Given the description of an element on the screen output the (x, y) to click on. 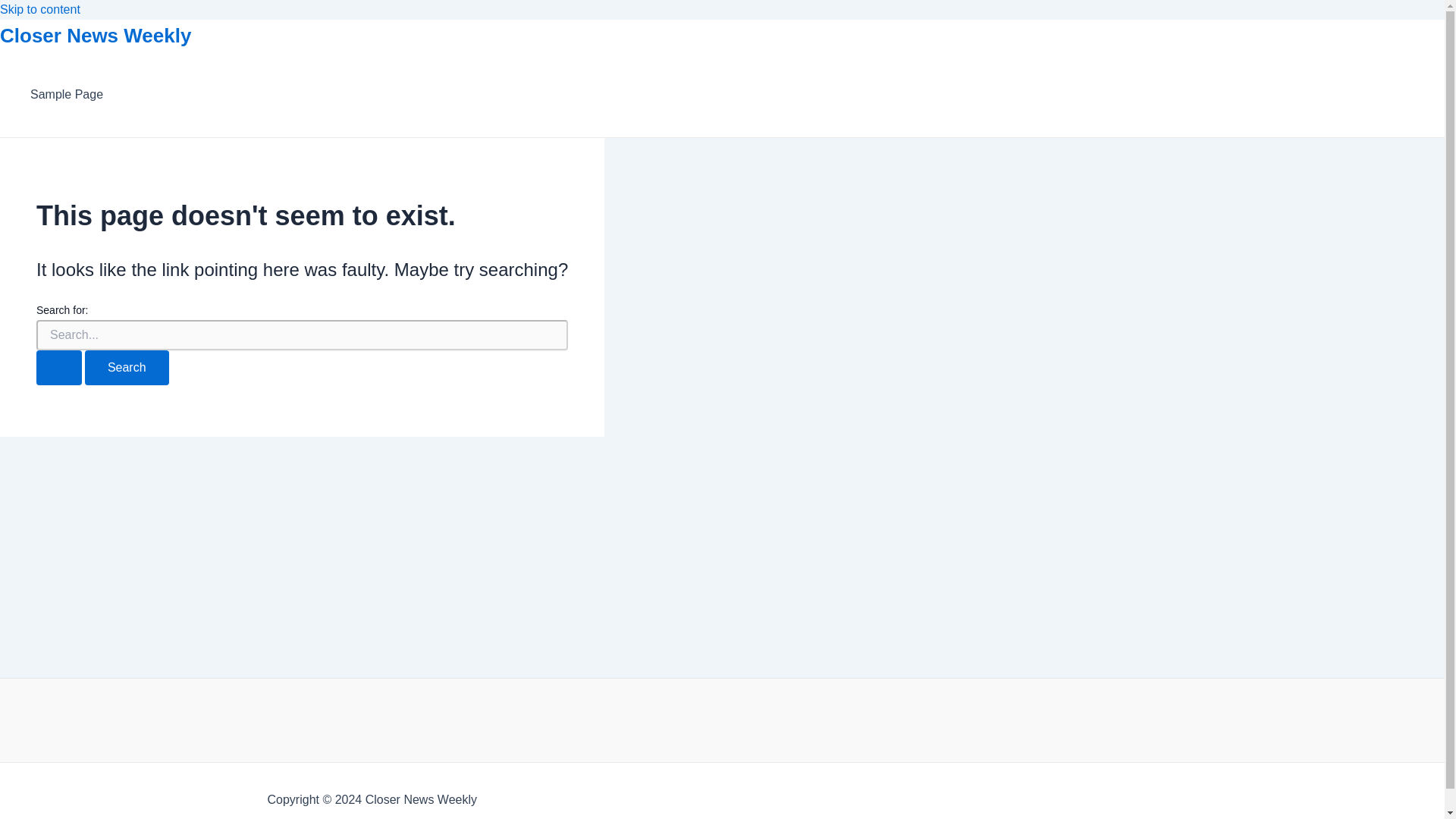
Sample Page (66, 94)
Skip to content (40, 9)
Skip to content (40, 9)
Closer News Weekly (95, 35)
Search (126, 367)
Search (126, 367)
Search (126, 367)
